Given the description of an element on the screen output the (x, y) to click on. 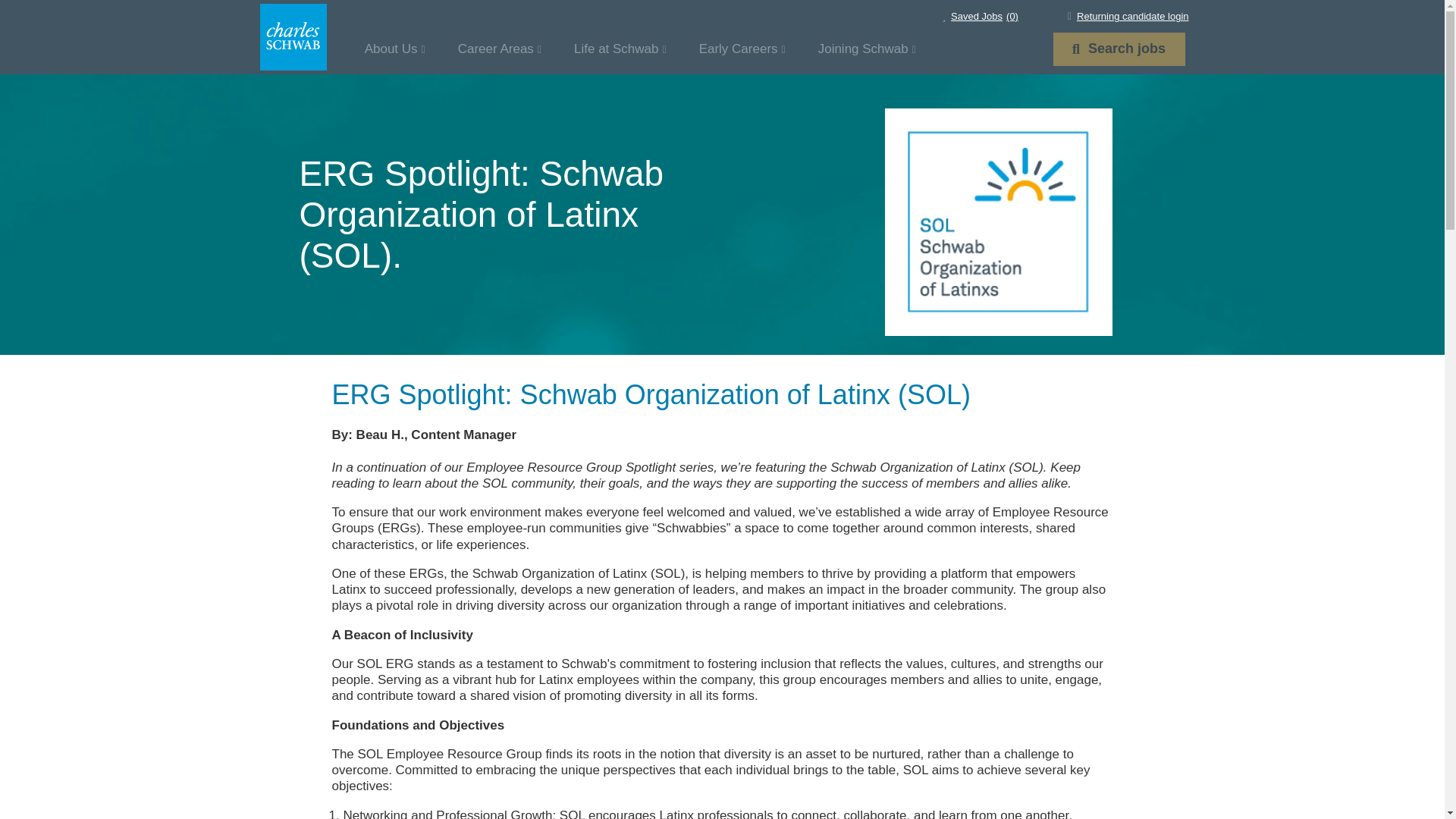
Early Careers (742, 48)
Returning candidate login (1128, 16)
Career Areas (1118, 49)
About Us (499, 48)
Life at Schwab (395, 48)
Joining Schwab (619, 48)
